Given the description of an element on the screen output the (x, y) to click on. 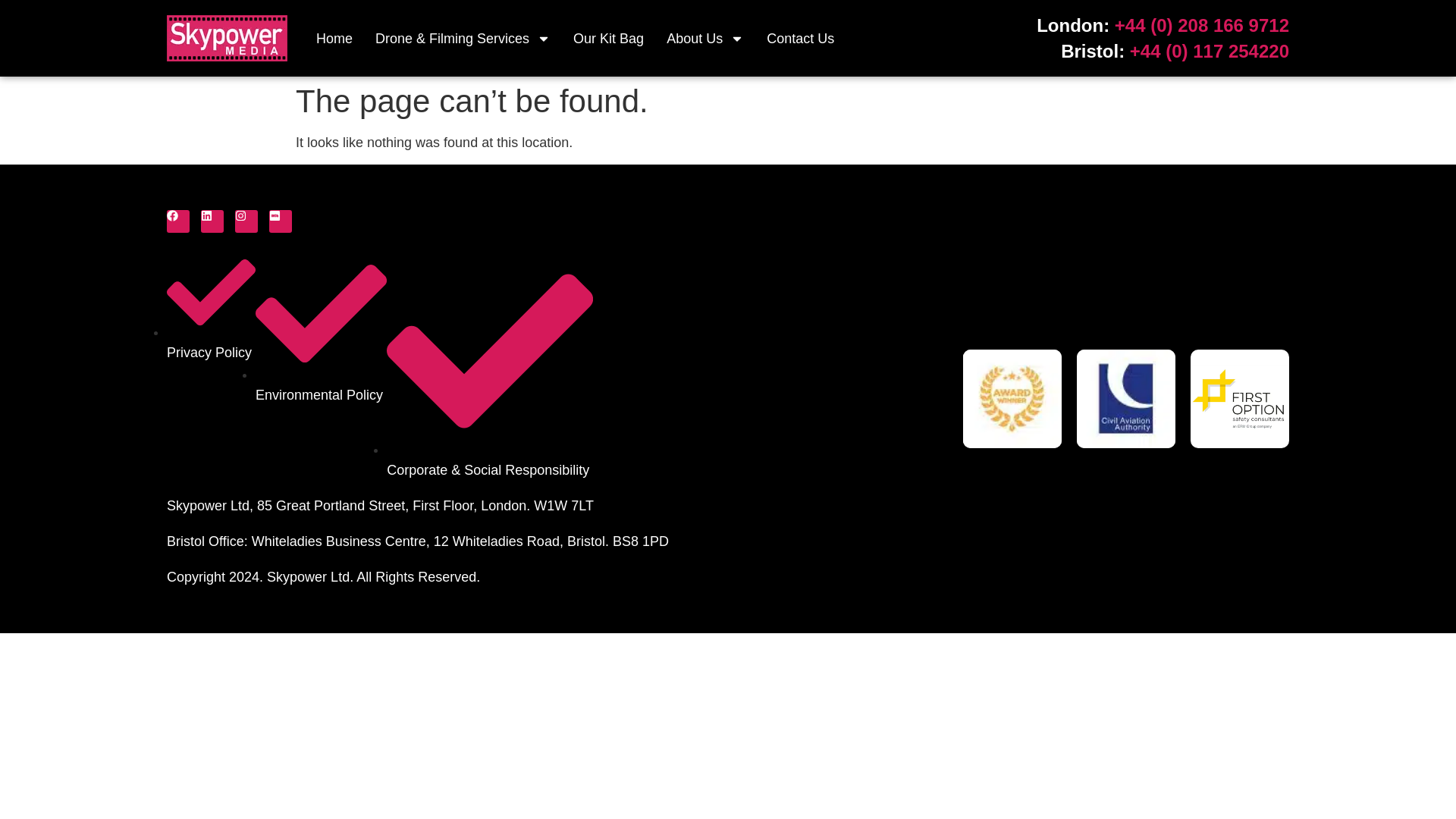
About Us (705, 38)
Home (333, 38)
Contact Us (800, 38)
Our Kit Bag (608, 38)
